Given the description of an element on the screen output the (x, y) to click on. 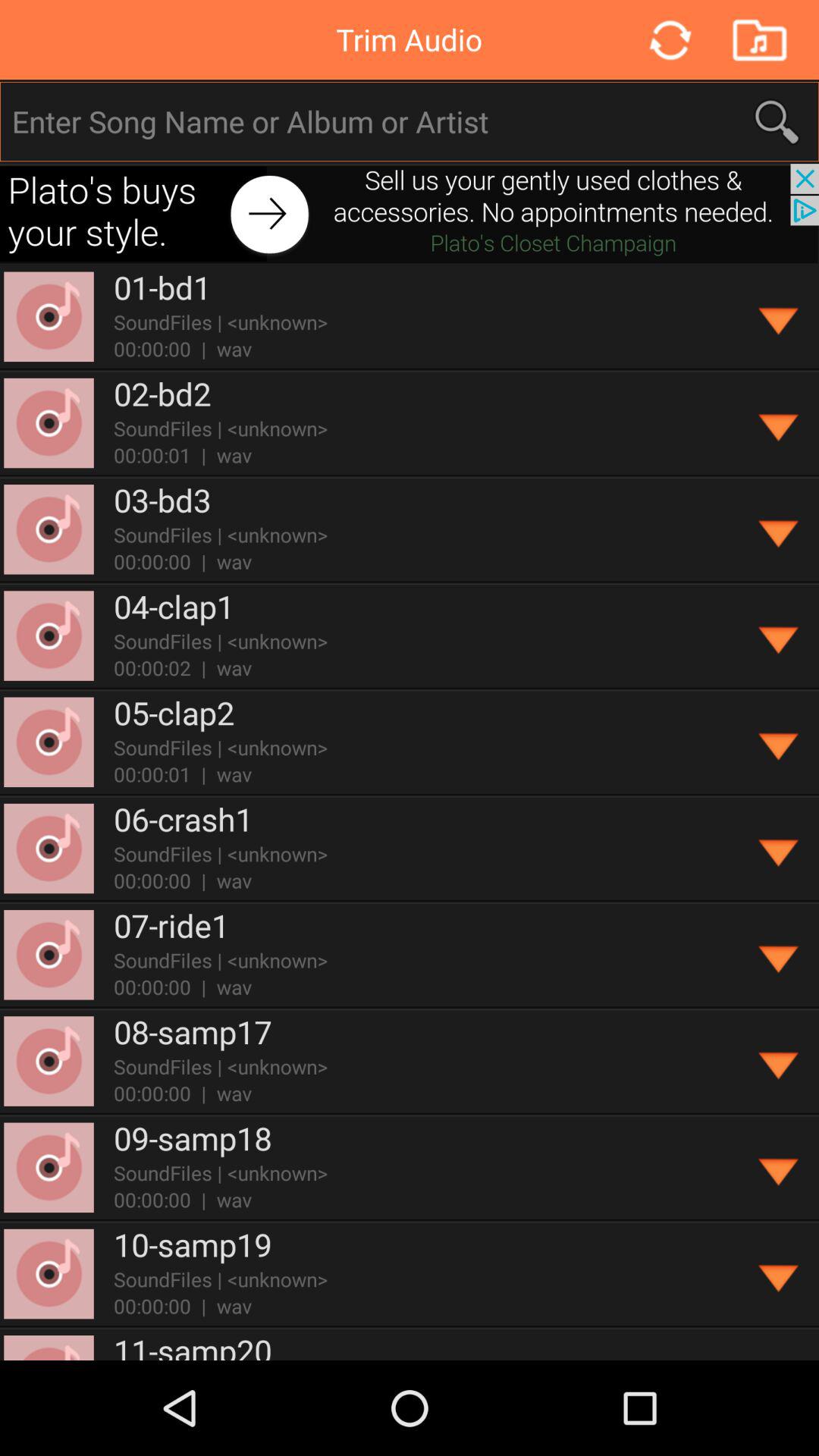
select option details (779, 1061)
